Given the description of an element on the screen output the (x, y) to click on. 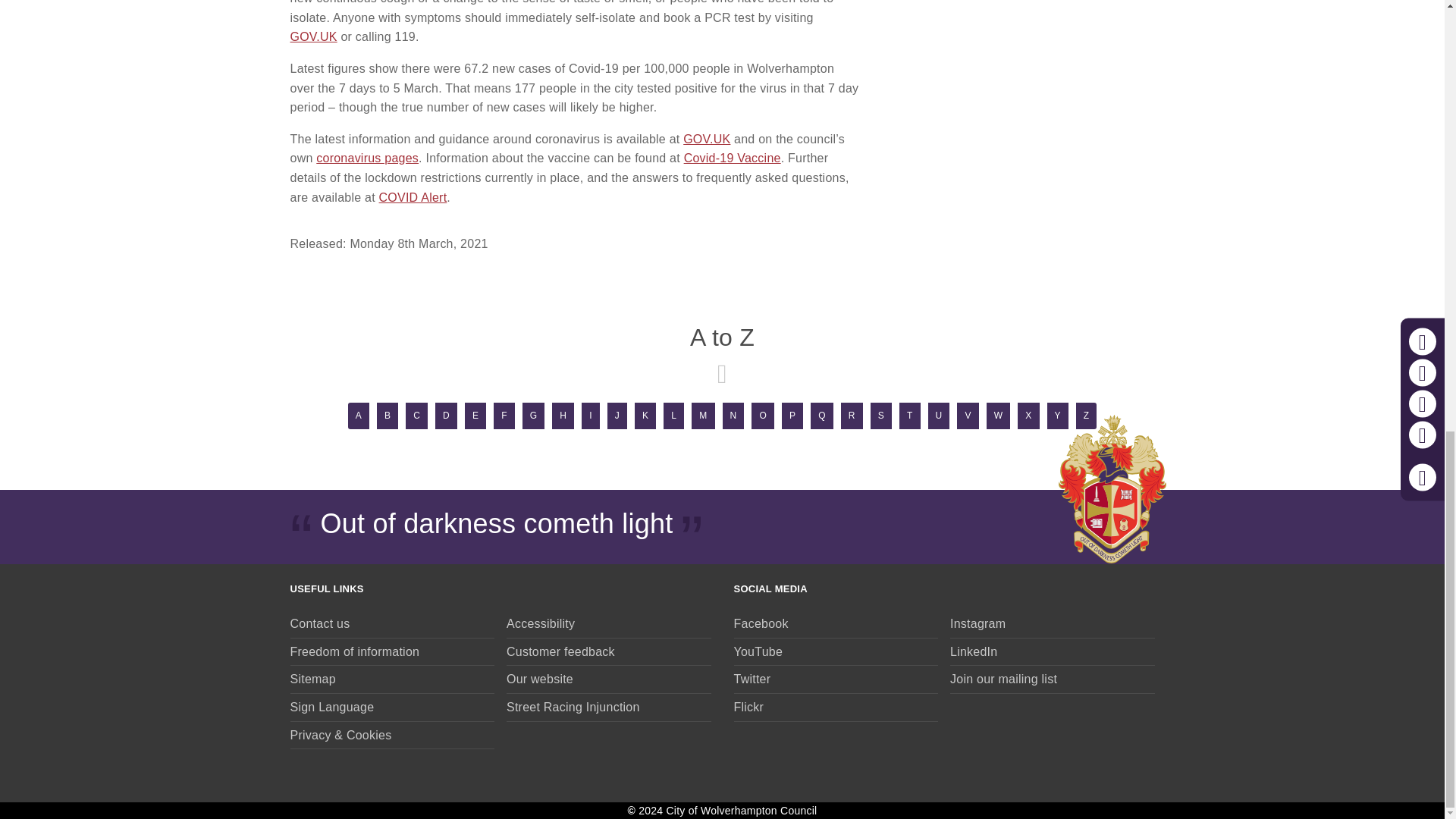
COVID Alert (412, 196)
GOV.UK (312, 36)
GOV.UK (706, 138)
coronavirus pages (367, 157)
Covid-19 Vaccine (732, 157)
